Given the description of an element on the screen output the (x, y) to click on. 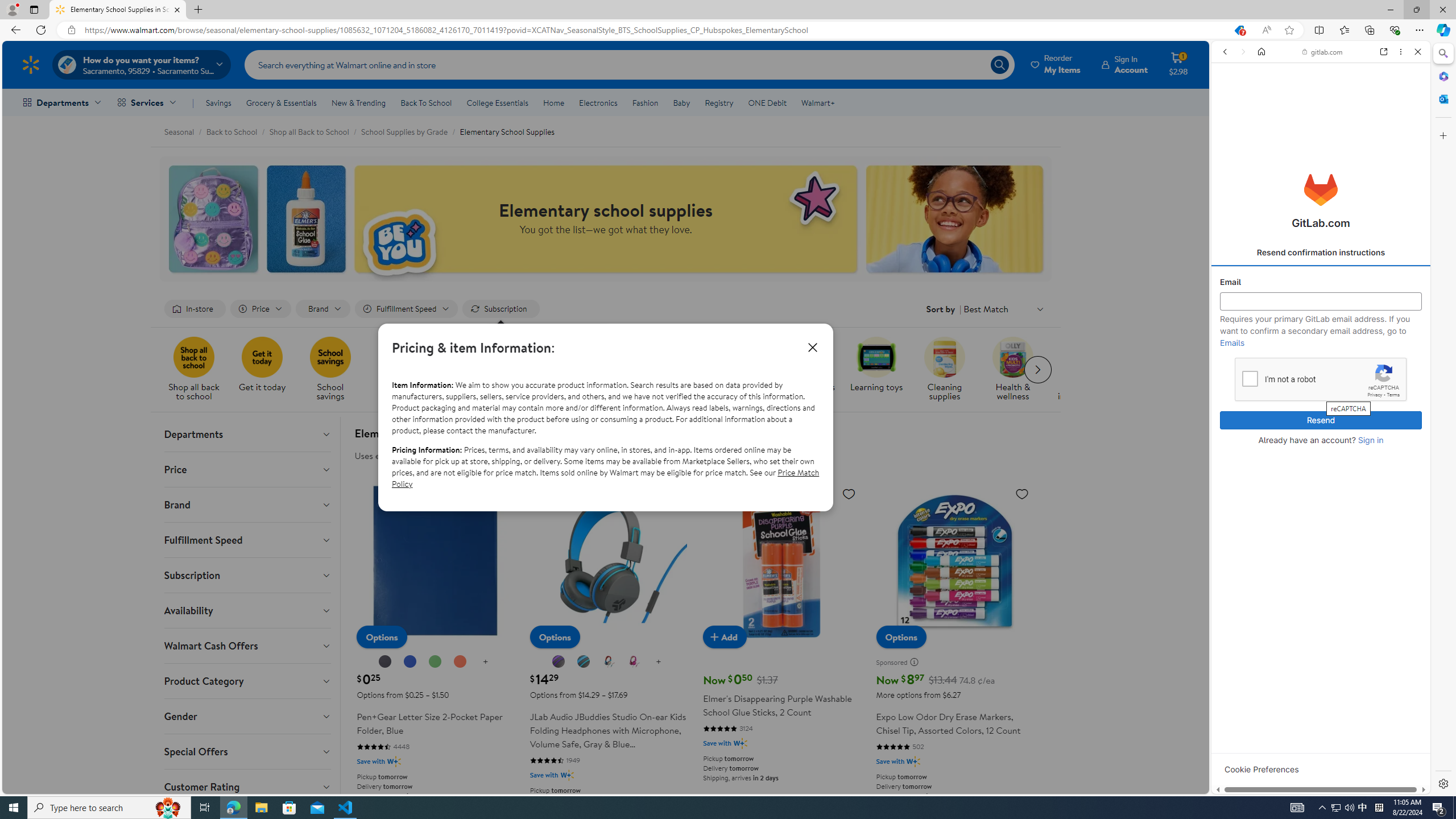
This site has coupons! Shopping in Microsoft Edge, 7 (1239, 29)
Register Now (1320, 253)
I'm not a robot (1249, 378)
ALL   (1228, 130)
Dashboard (1320, 365)
View details (1379, 554)
